Given the description of an element on the screen output the (x, y) to click on. 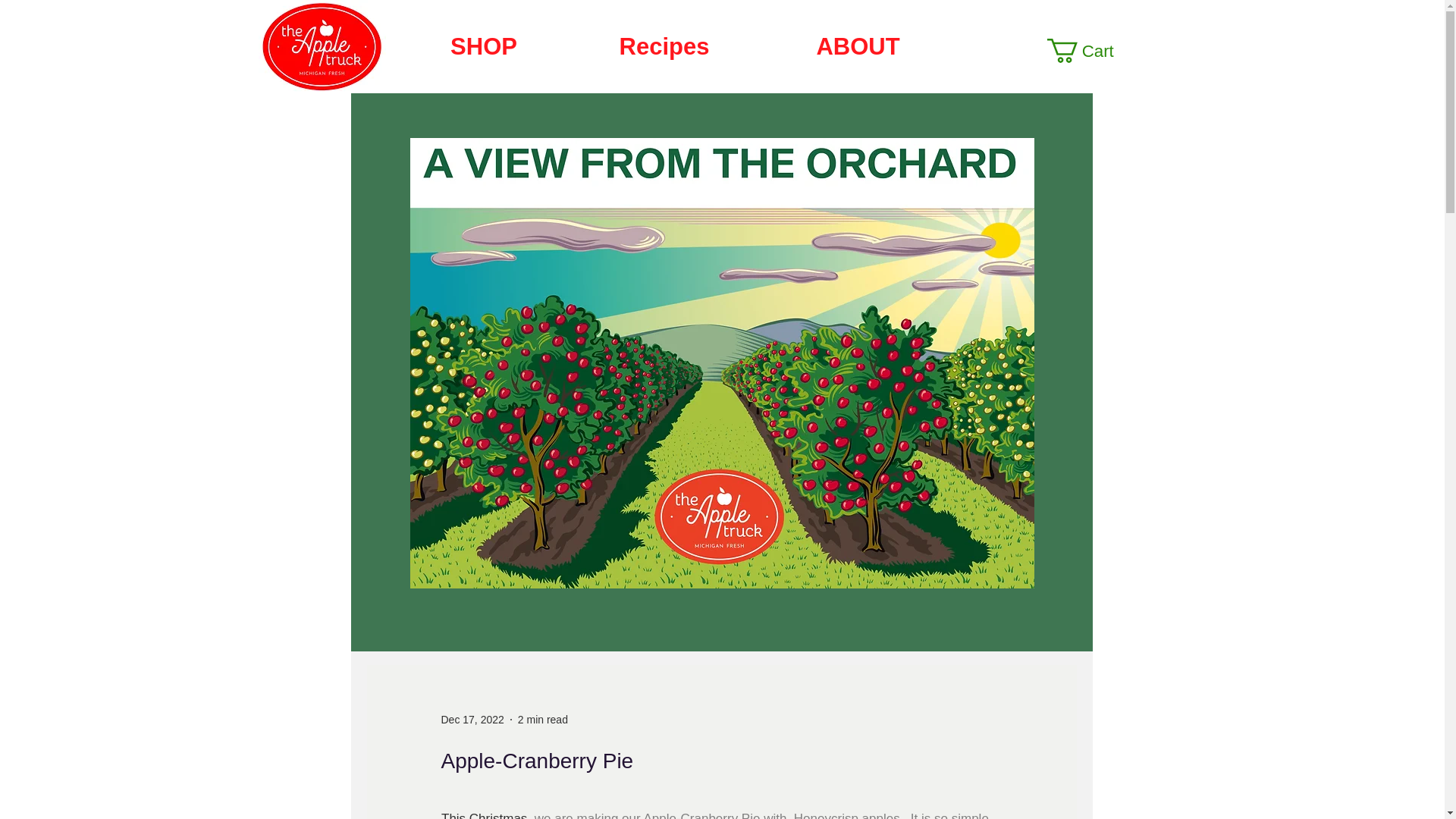
2 min read (542, 718)
Recipes (664, 46)
ABOUT (857, 46)
Cart (1093, 50)
Dec 17, 2022 (472, 718)
SHOP (483, 46)
Cart (1093, 50)
